Given the description of an element on the screen output the (x, y) to click on. 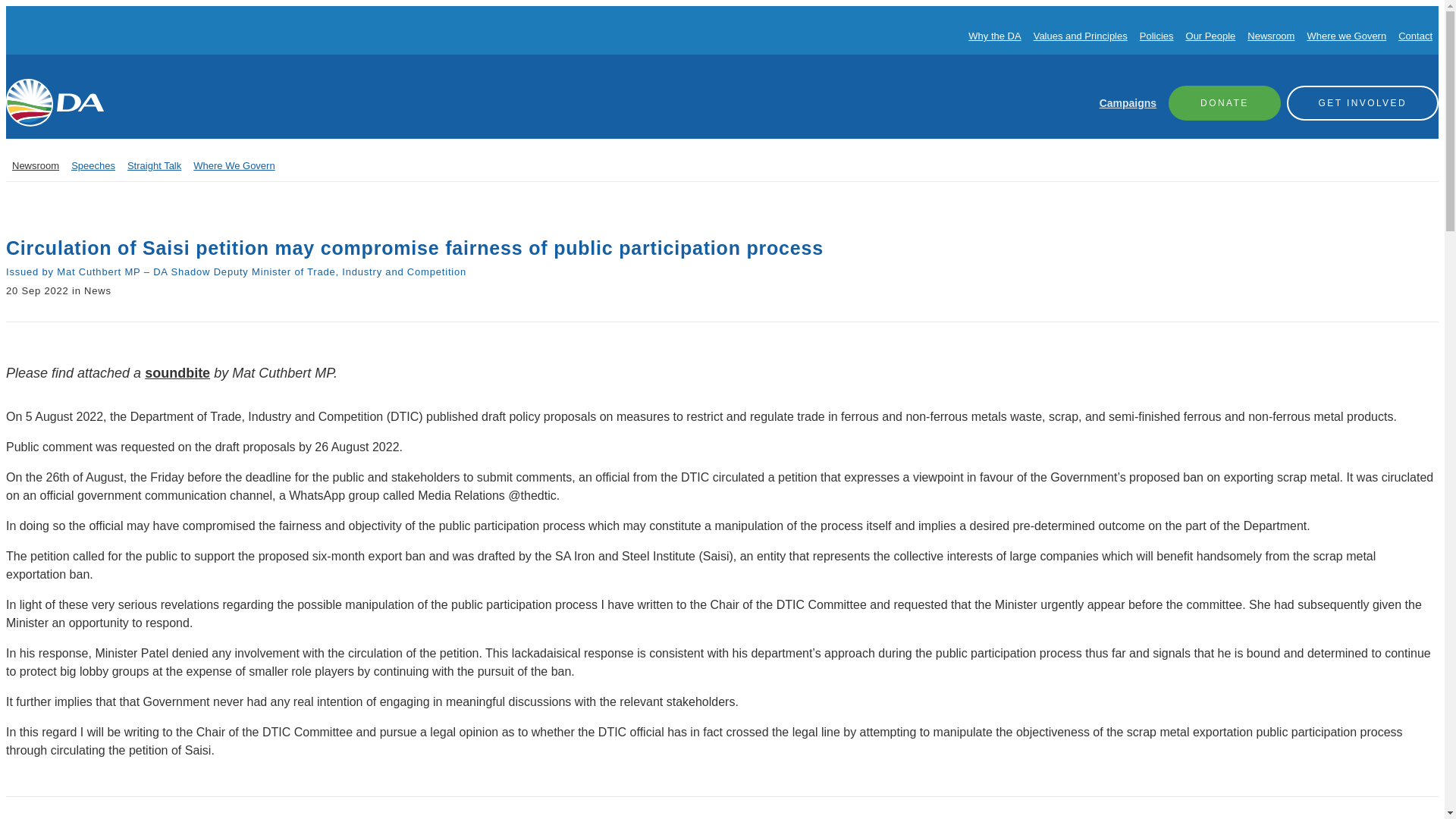
Our People (1211, 35)
Why the DA (994, 35)
soundbite (176, 372)
Speeches (93, 165)
Where We Govern (234, 165)
Campaigns (1127, 102)
Newsroom (1270, 35)
Values and Principles (1079, 35)
Where we Govern (1346, 35)
Straight Talk (154, 165)
DONATE (1225, 102)
Newsroom (35, 165)
Democratic Alliance Logo (54, 102)
Policies (1156, 35)
DONATE (1225, 101)
